Given the description of an element on the screen output the (x, y) to click on. 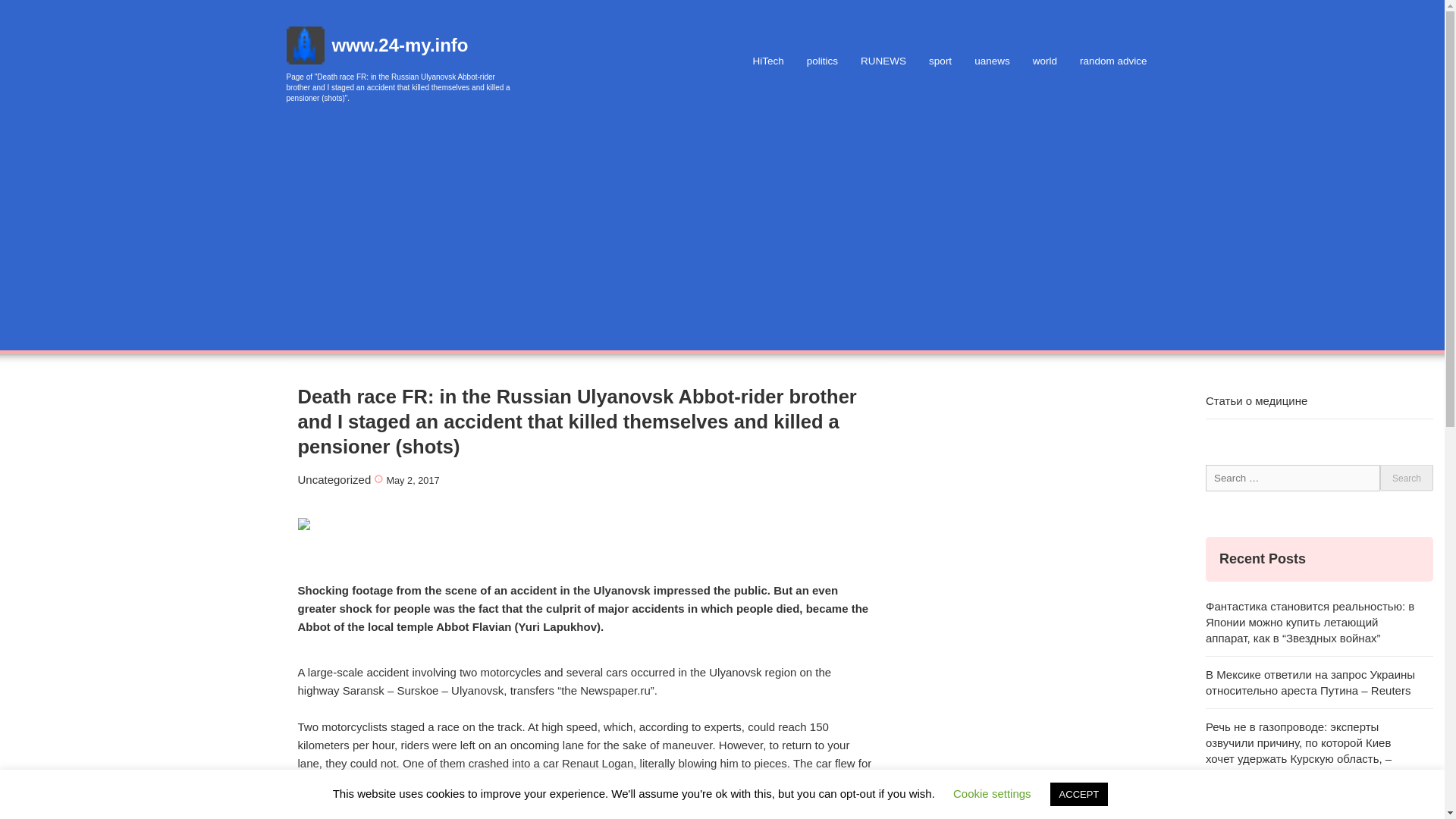
world (1045, 61)
Search (1406, 477)
random advice (1113, 61)
uanews (992, 61)
RUNEWS (882, 61)
Cookie settings (991, 793)
www.24-my.info (399, 45)
sport (939, 61)
Search (1406, 477)
